Given the description of an element on the screen output the (x, y) to click on. 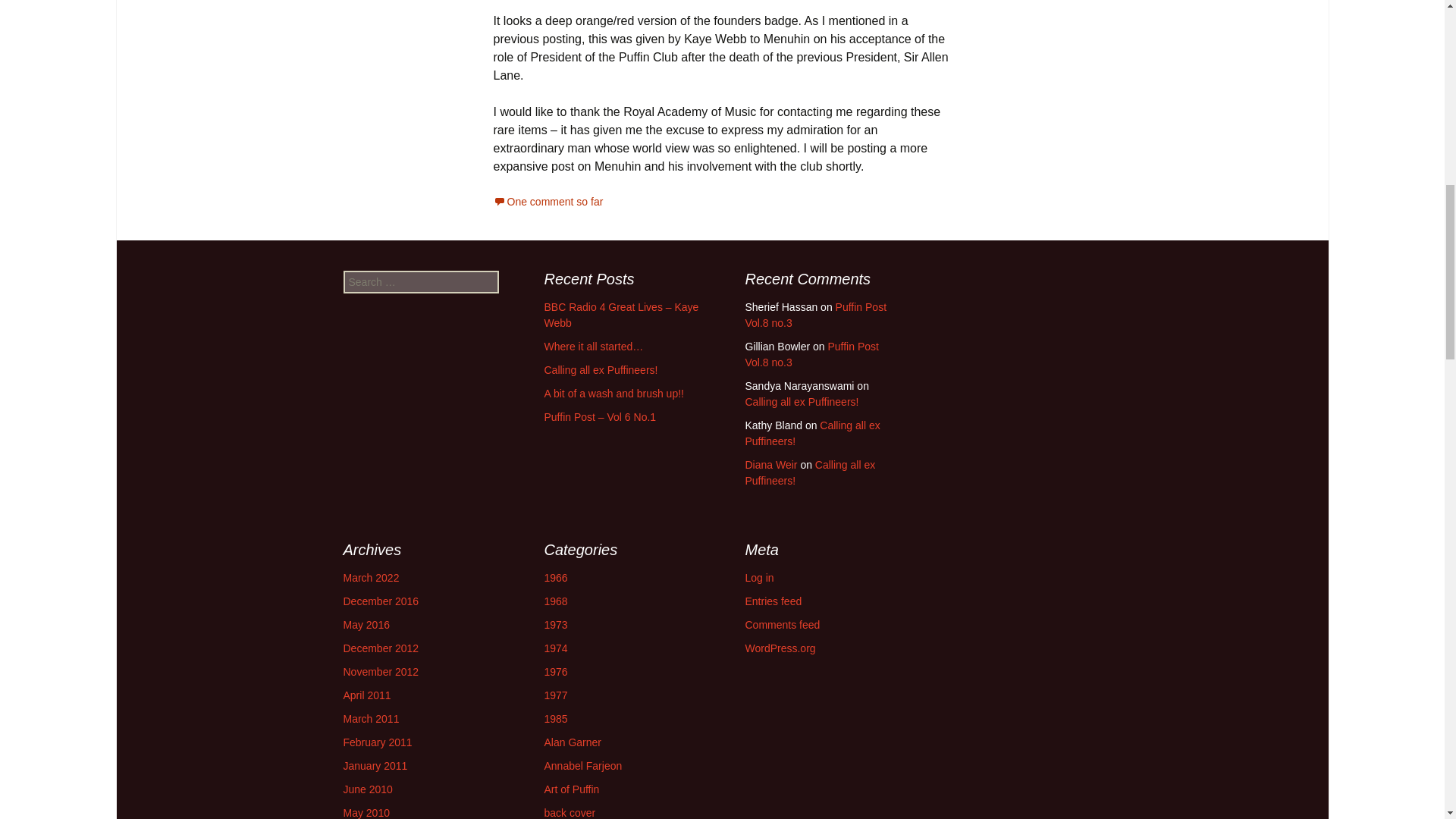
February 2011 (377, 742)
Diana Weir (770, 464)
Calling all ex Puffineers! (801, 401)
April 2011 (366, 695)
One comment so far (547, 201)
December 2016 (380, 601)
January 2011 (374, 766)
Puffin Post Vol.8 no.3 (810, 354)
Calling all ex Puffineers! (809, 472)
March 2011 (370, 718)
March 2022 (370, 577)
Calling all ex Puffineers! (601, 369)
Puffin Post Vol.8 no.3 (815, 315)
A bit of a wash and brush up!! (614, 393)
November 2012 (380, 671)
